Given the description of an element on the screen output the (x, y) to click on. 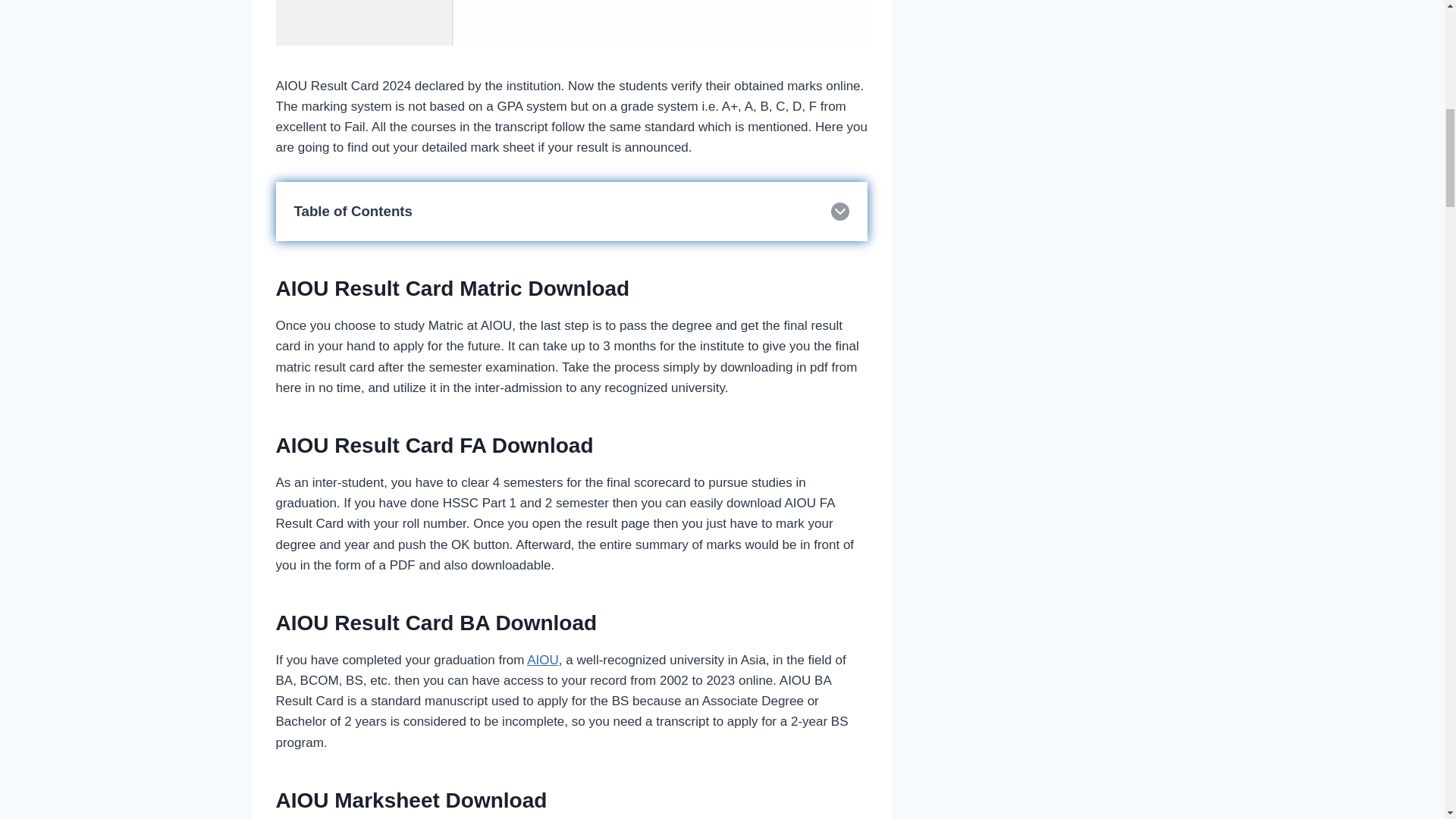
AIOU (543, 659)
